Given the description of an element on the screen output the (x, y) to click on. 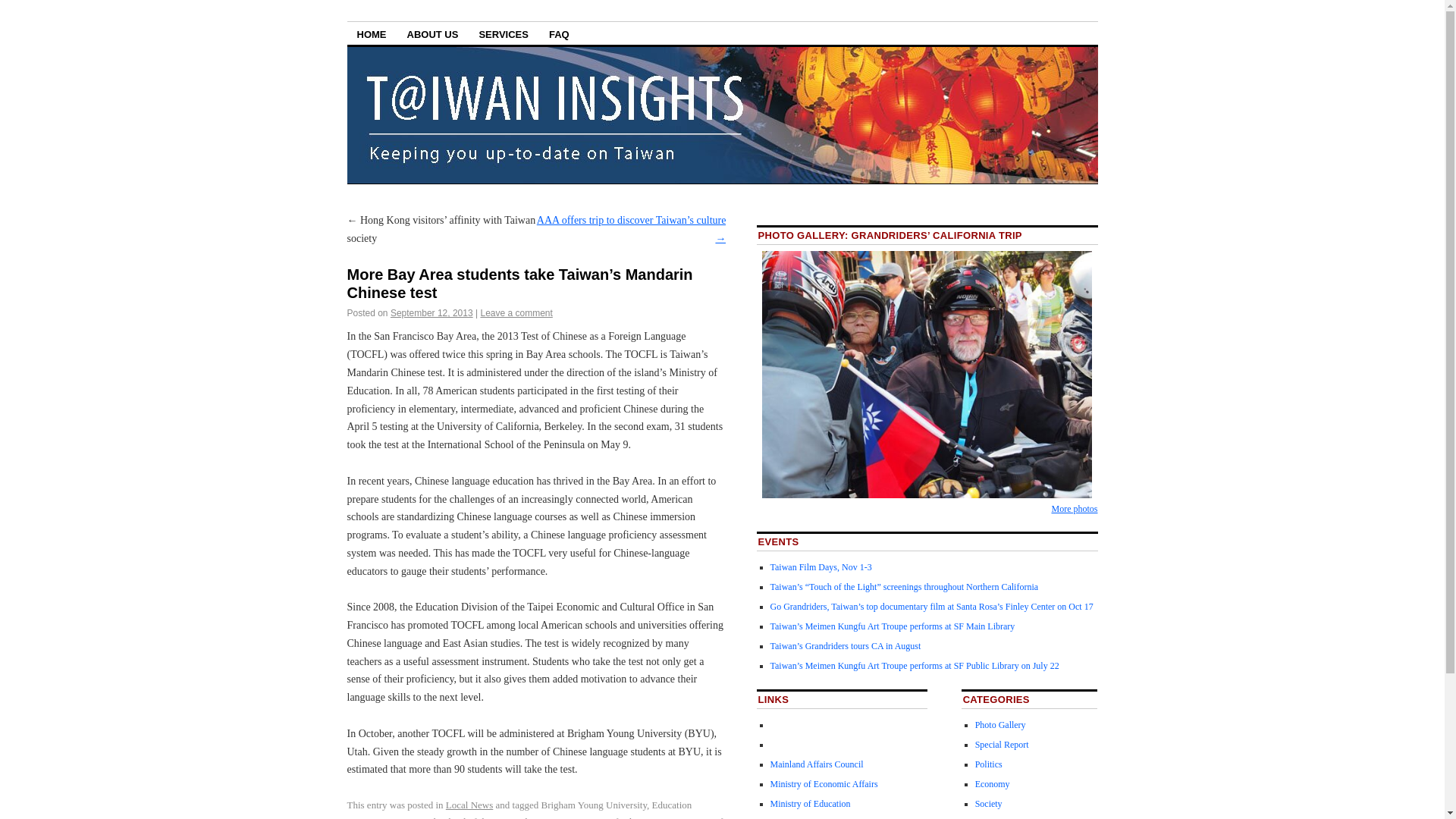
Mainland Affairs Council (816, 764)
Taiwan Film Days, Nov 1-3 (821, 566)
Society (989, 803)
Economy (992, 783)
Ministry of Education (810, 803)
Local News (997, 818)
HOME (371, 33)
More photos (1074, 508)
View all posts filed under Photo Gallery (1000, 724)
Special Report (1002, 744)
Photo Gallery (1000, 724)
Politics (989, 764)
2:41 pm (431, 312)
Permanent link to Taiwan Film Days, Nov 1-3 (821, 566)
View all posts in Local News (469, 804)
